Given the description of an element on the screen output the (x, y) to click on. 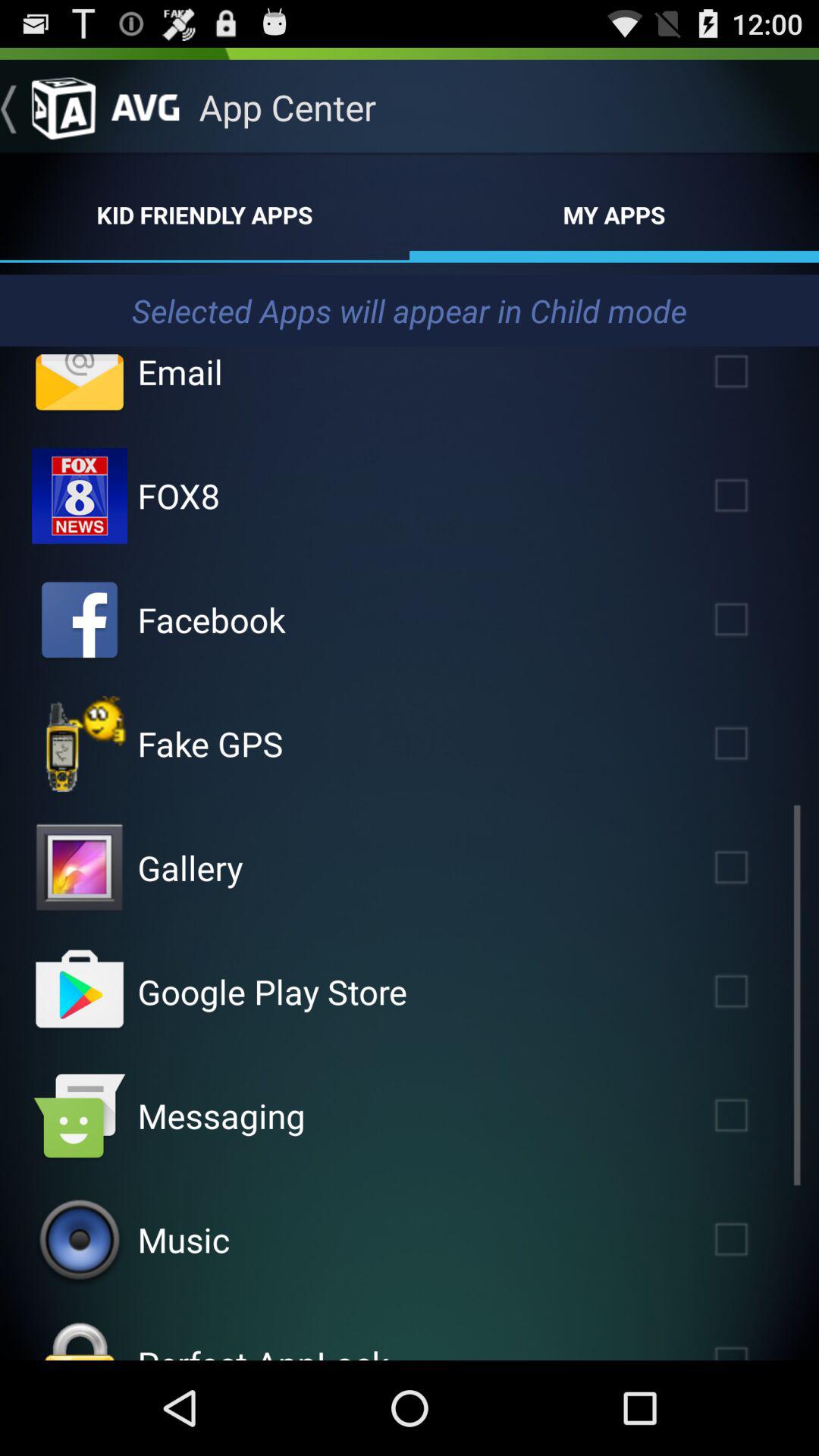
go back (47, 107)
